Given the description of an element on the screen output the (x, y) to click on. 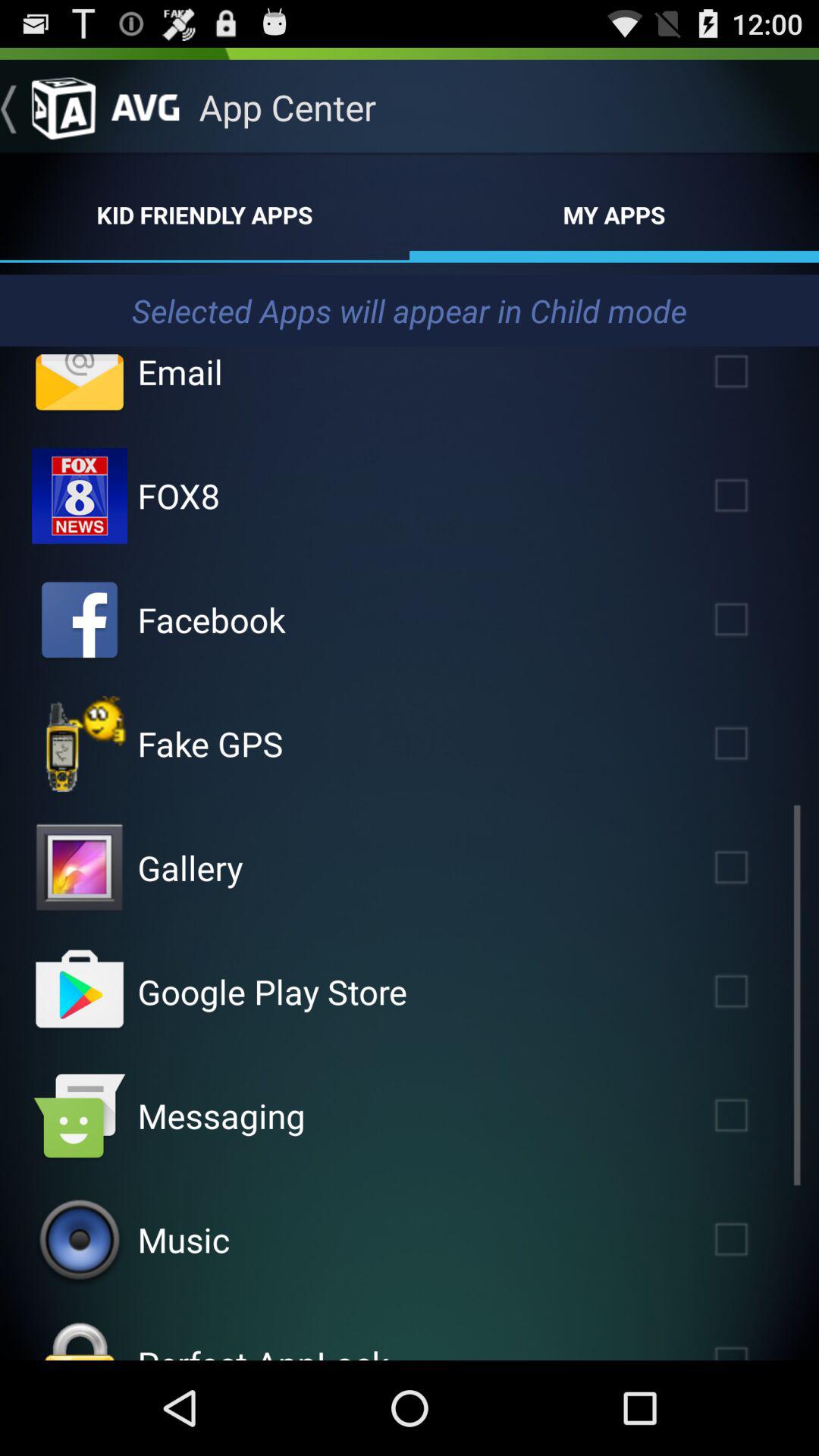
go back (47, 107)
